Given the description of an element on the screen output the (x, y) to click on. 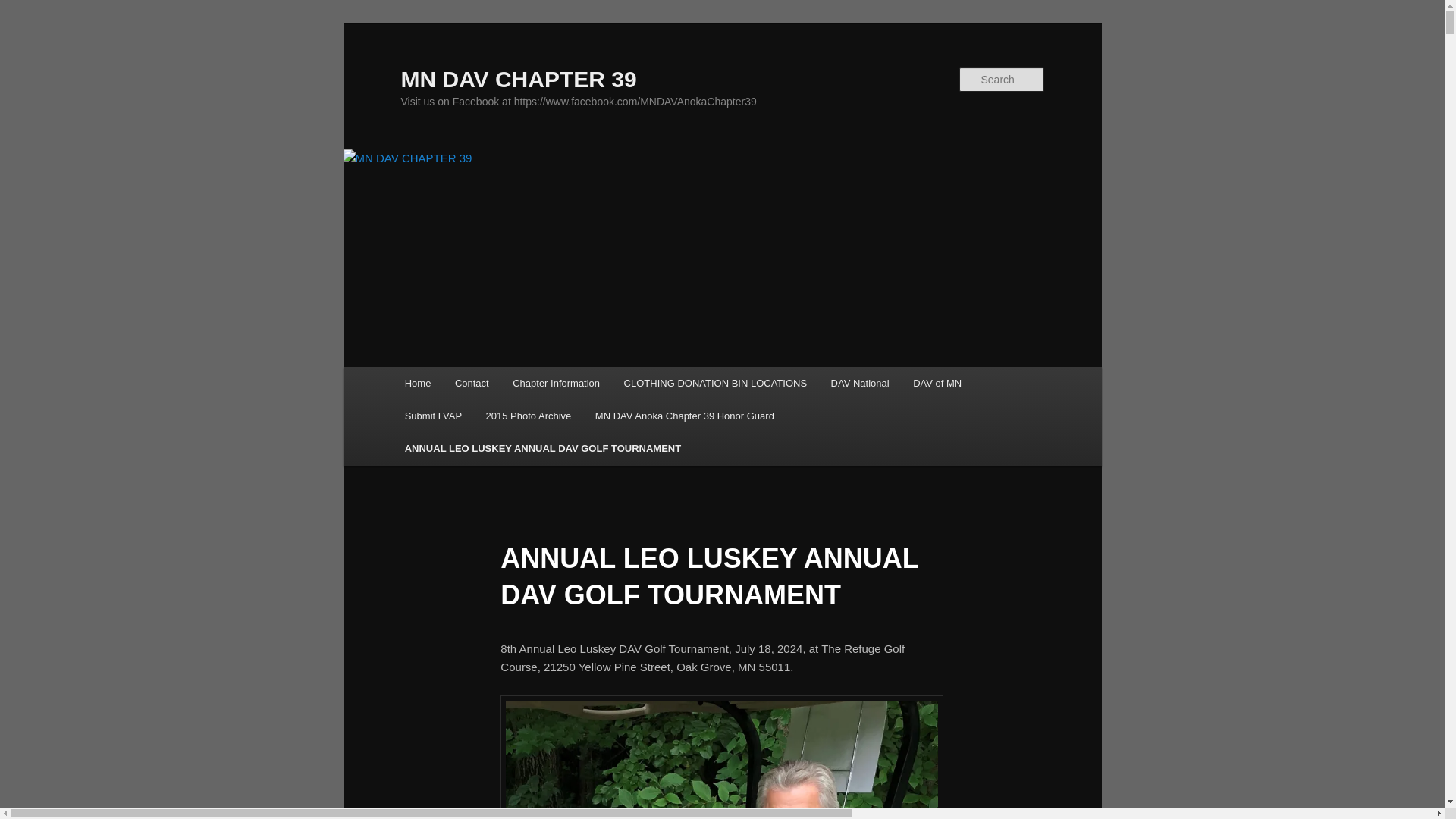
Search (24, 8)
DAV of MN (937, 382)
CLOTHING DONATION BIN LOCATIONS (714, 382)
MN DAV CHAPTER 39 (518, 78)
ANNUAL LEO LUSKEY ANNUAL DAV GOLF TOURNAMENT (543, 448)
MN DAV Anoka Chapter 39 Honor Guard (684, 415)
DAV National (859, 382)
Home (417, 382)
2015 Photo Archive (528, 415)
Chapter Information (555, 382)
Submit LVAP (433, 415)
Contact (471, 382)
